Given the description of an element on the screen output the (x, y) to click on. 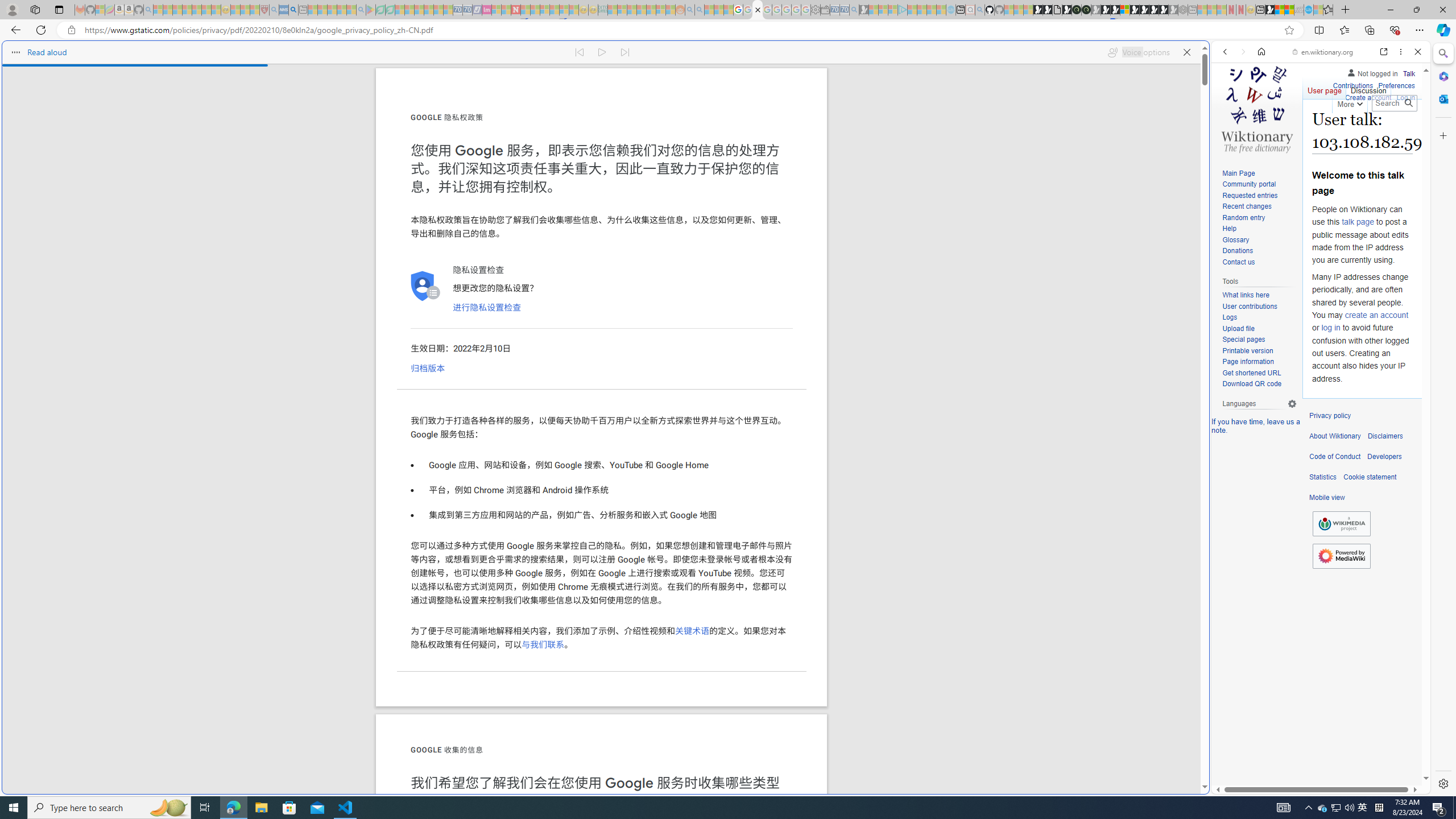
en.wiktionary.org (1323, 51)
Play Cave FRVR in your browser | Games from Microsoft Start (922, 242)
utah sues federal government - Search (292, 9)
Donations (1237, 250)
utah sues federal government - Search (922, 389)
Search Filter, IMAGES (1262, 129)
